Given the description of an element on the screen output the (x, y) to click on. 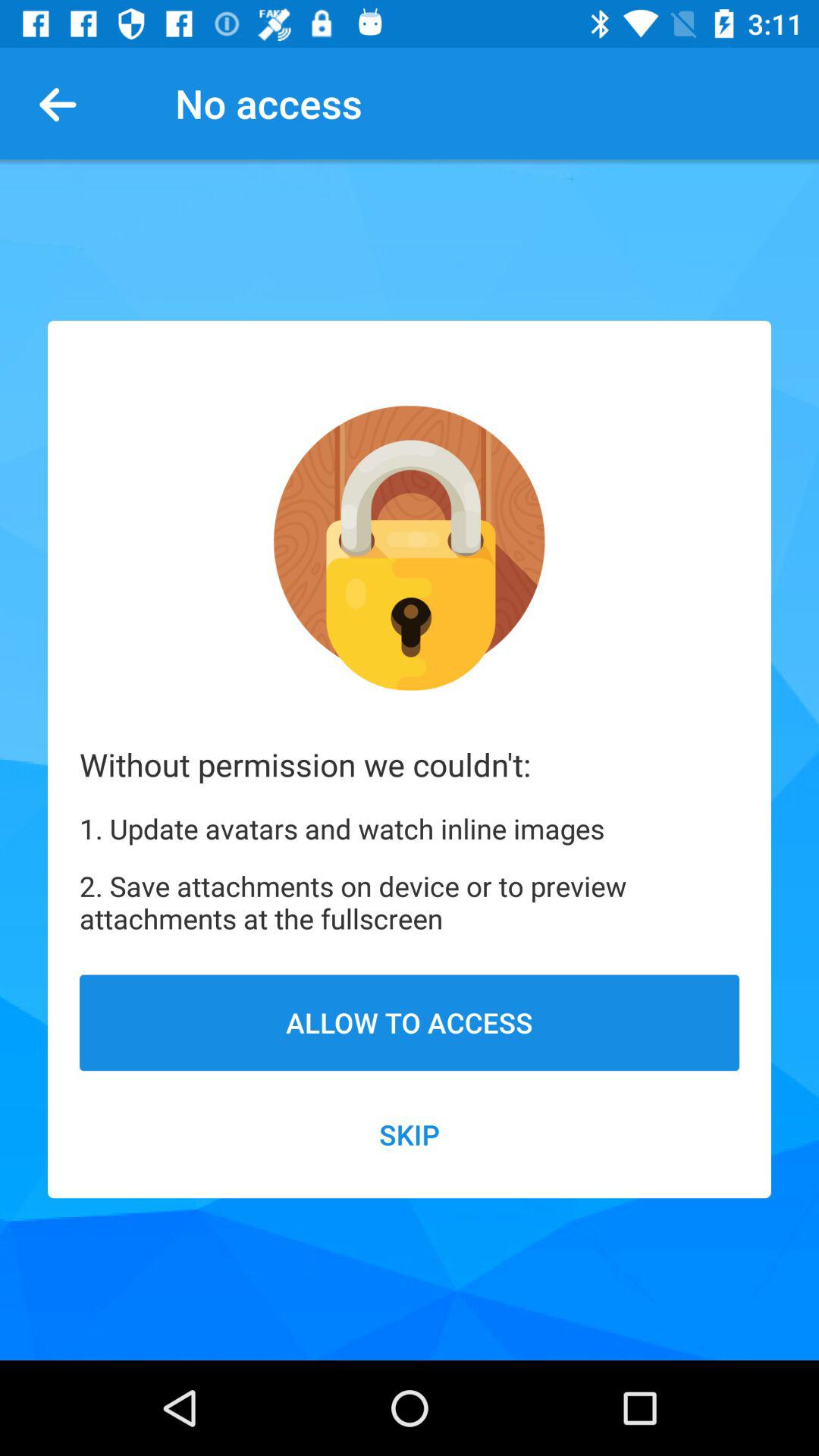
click the allow to access icon (409, 1022)
